Given the description of an element on the screen output the (x, y) to click on. 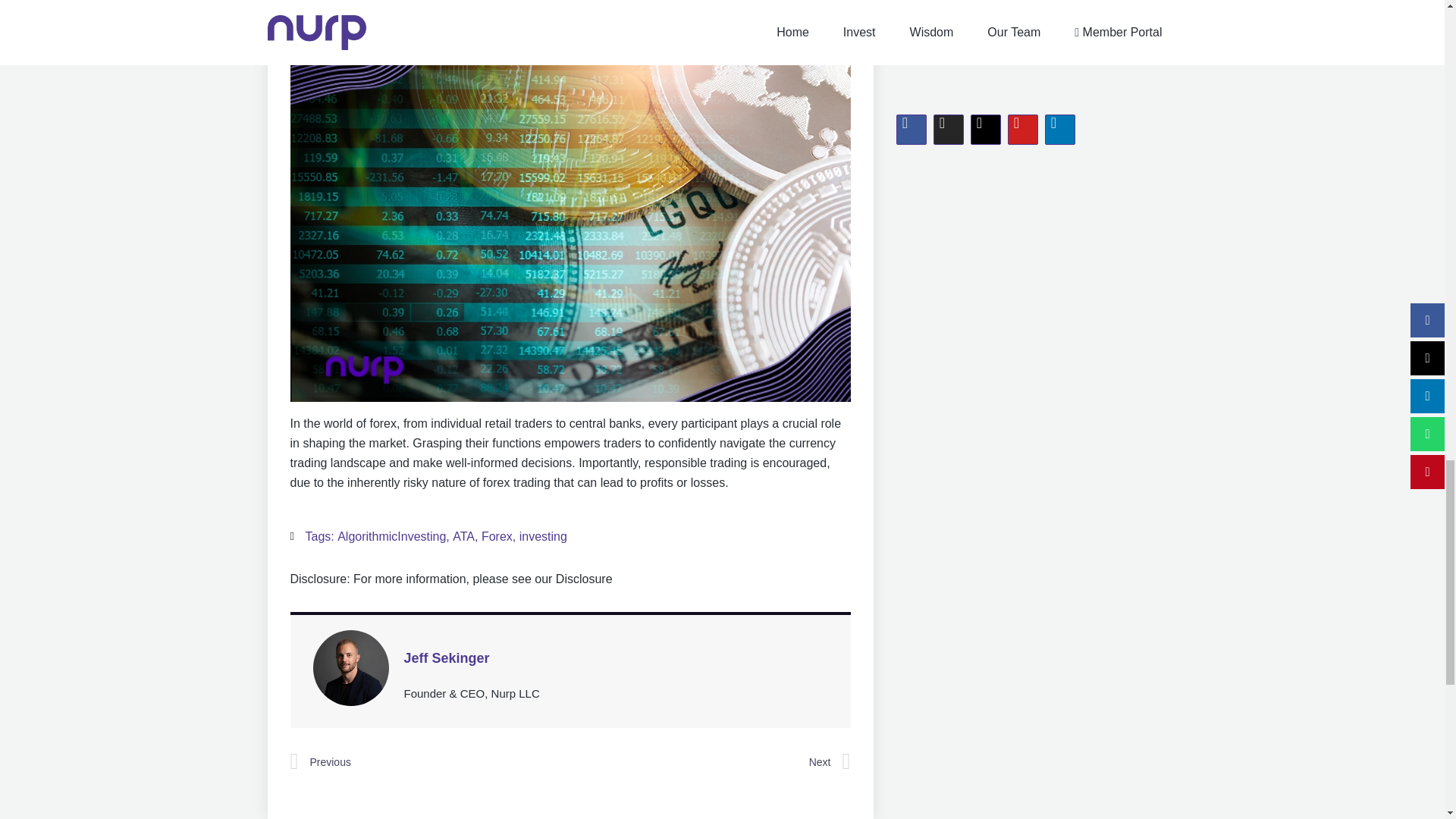
investing (543, 535)
Jeff Sekinger (615, 658)
Next (710, 762)
ATA (463, 535)
Previous (429, 762)
AlgorithmicInvesting (391, 535)
Forex (496, 535)
